Given the description of an element on the screen output the (x, y) to click on. 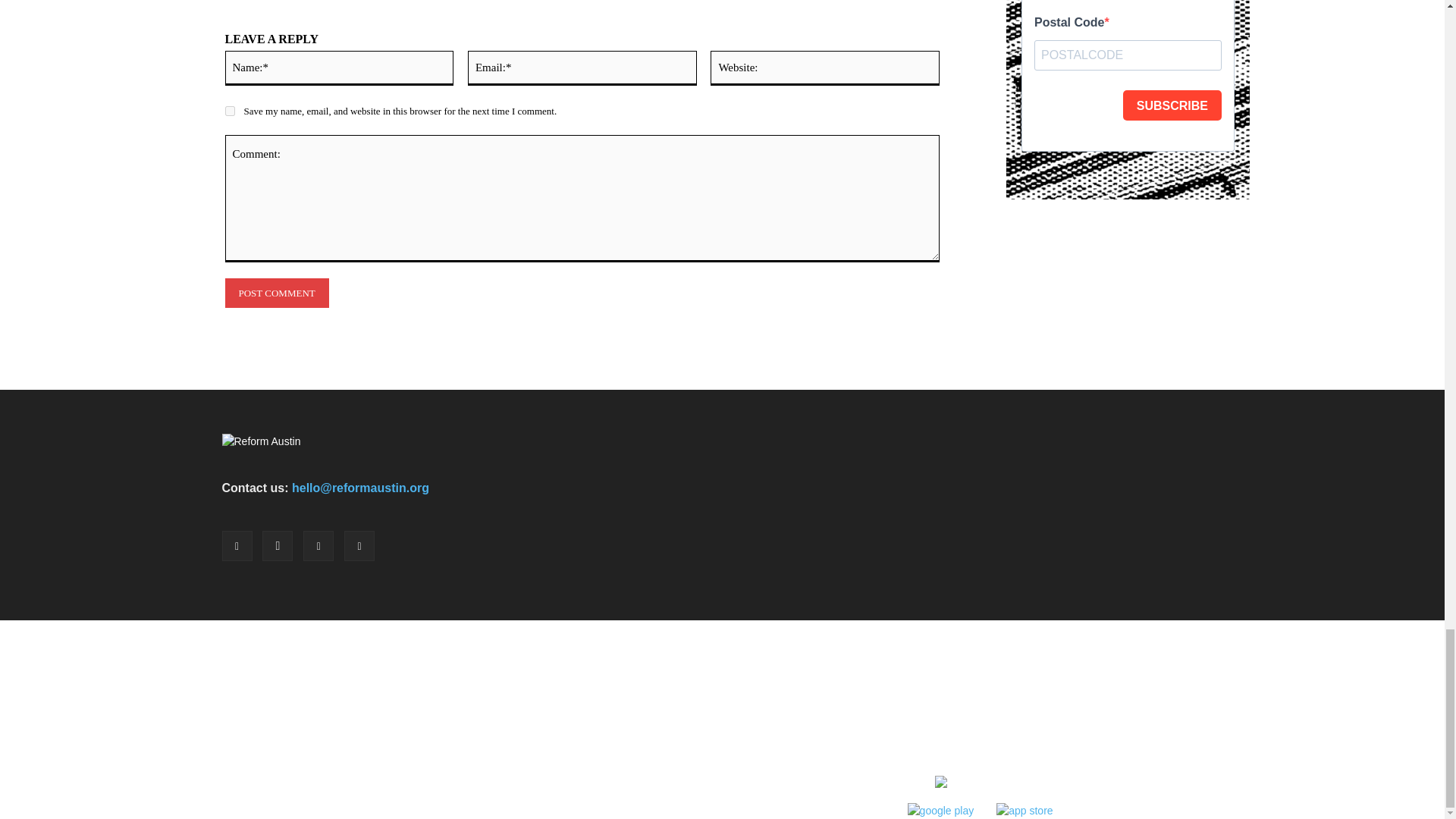
yes (229, 111)
Post Comment (276, 292)
